Given the description of an element on the screen output the (x, y) to click on. 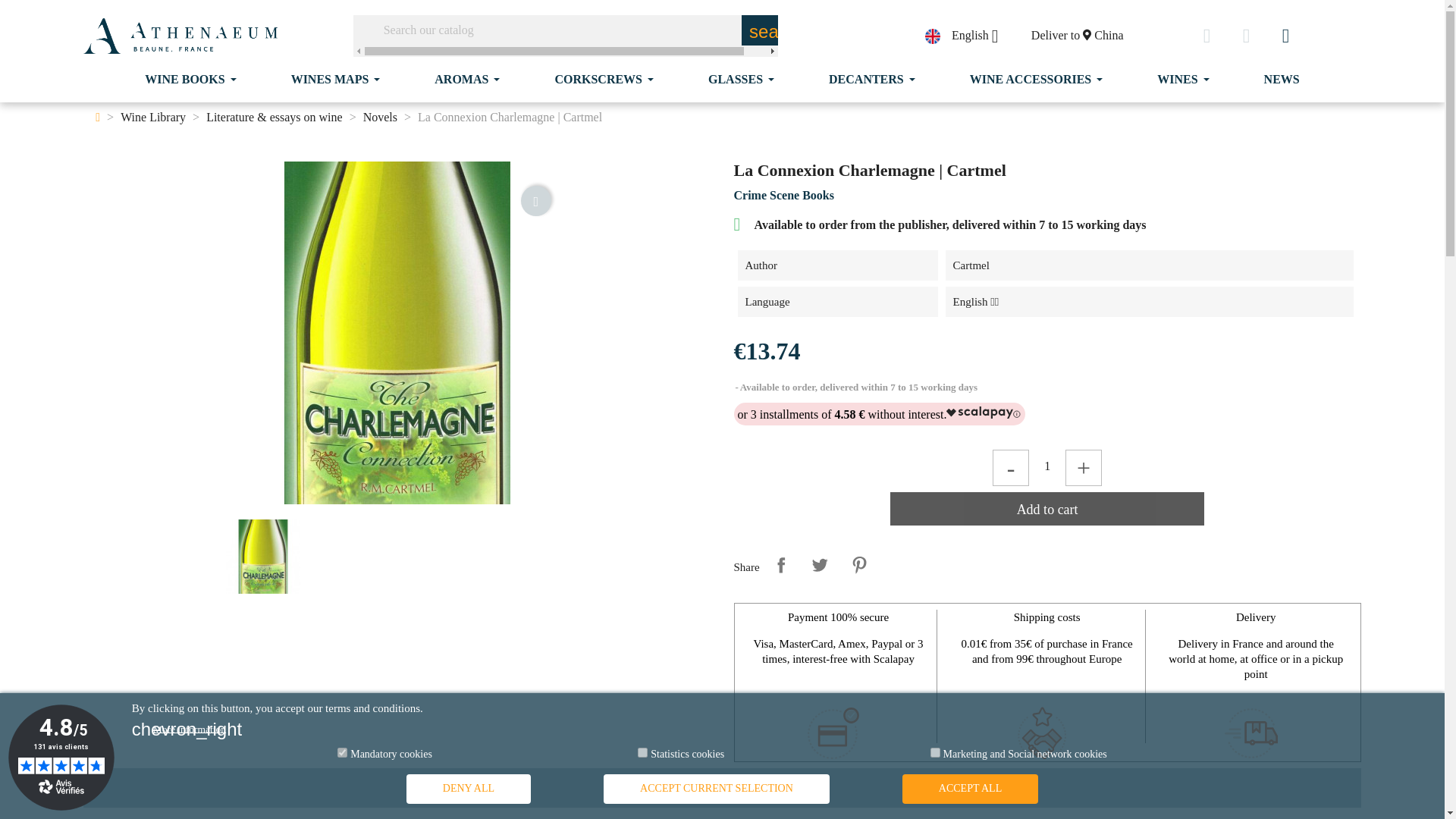
on (1077, 36)
1 (642, 752)
en (1047, 466)
WINE BOOKS (932, 36)
on (189, 79)
Pinterest (935, 752)
Share (859, 564)
Athenaeum (780, 564)
on (180, 36)
Tweet (342, 752)
